Given the description of an element on the screen output the (x, y) to click on. 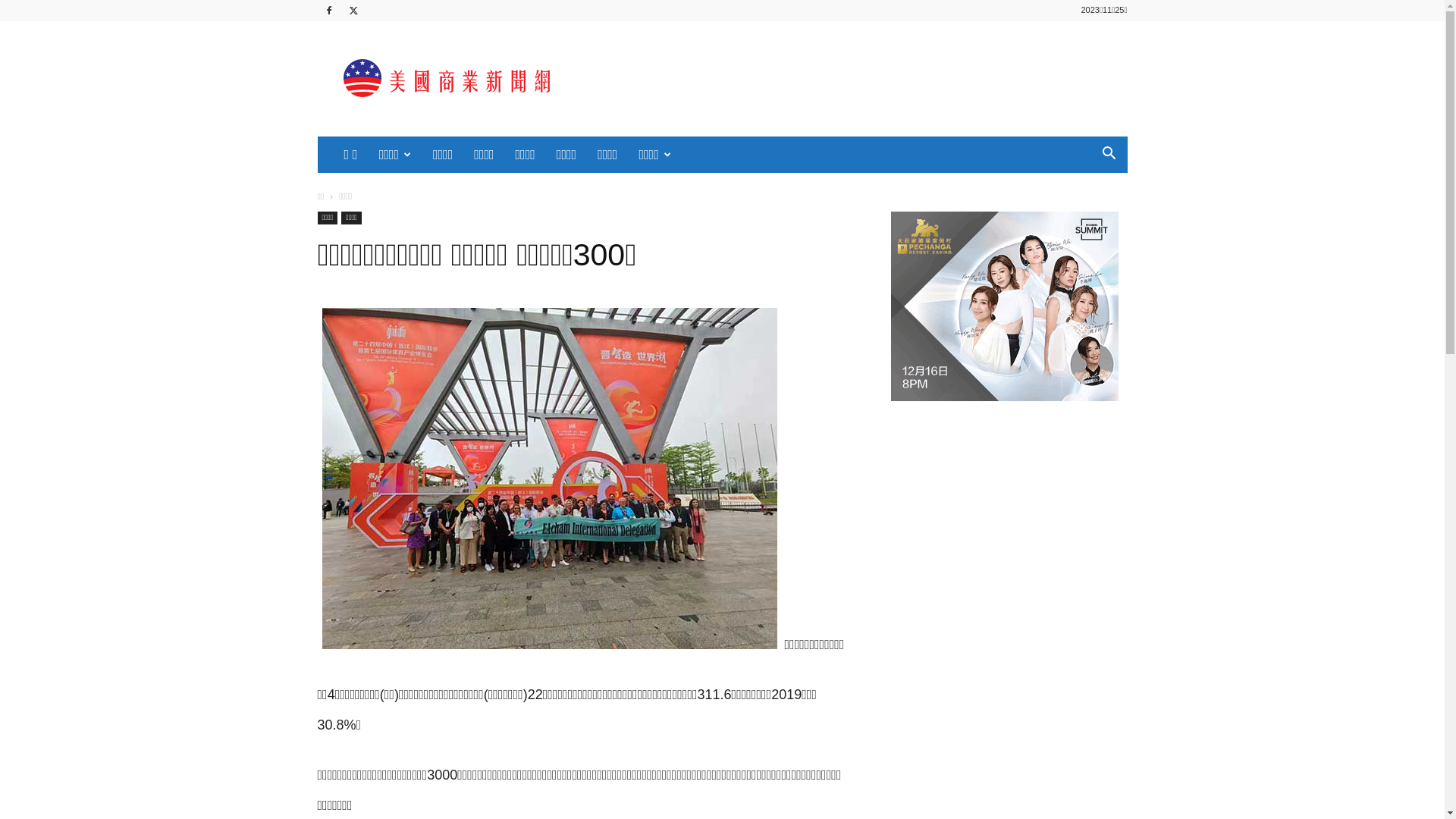
Facebook Element type: hover (327, 10)
Twitter Element type: hover (353, 10)
